Given the description of an element on the screen output the (x, y) to click on. 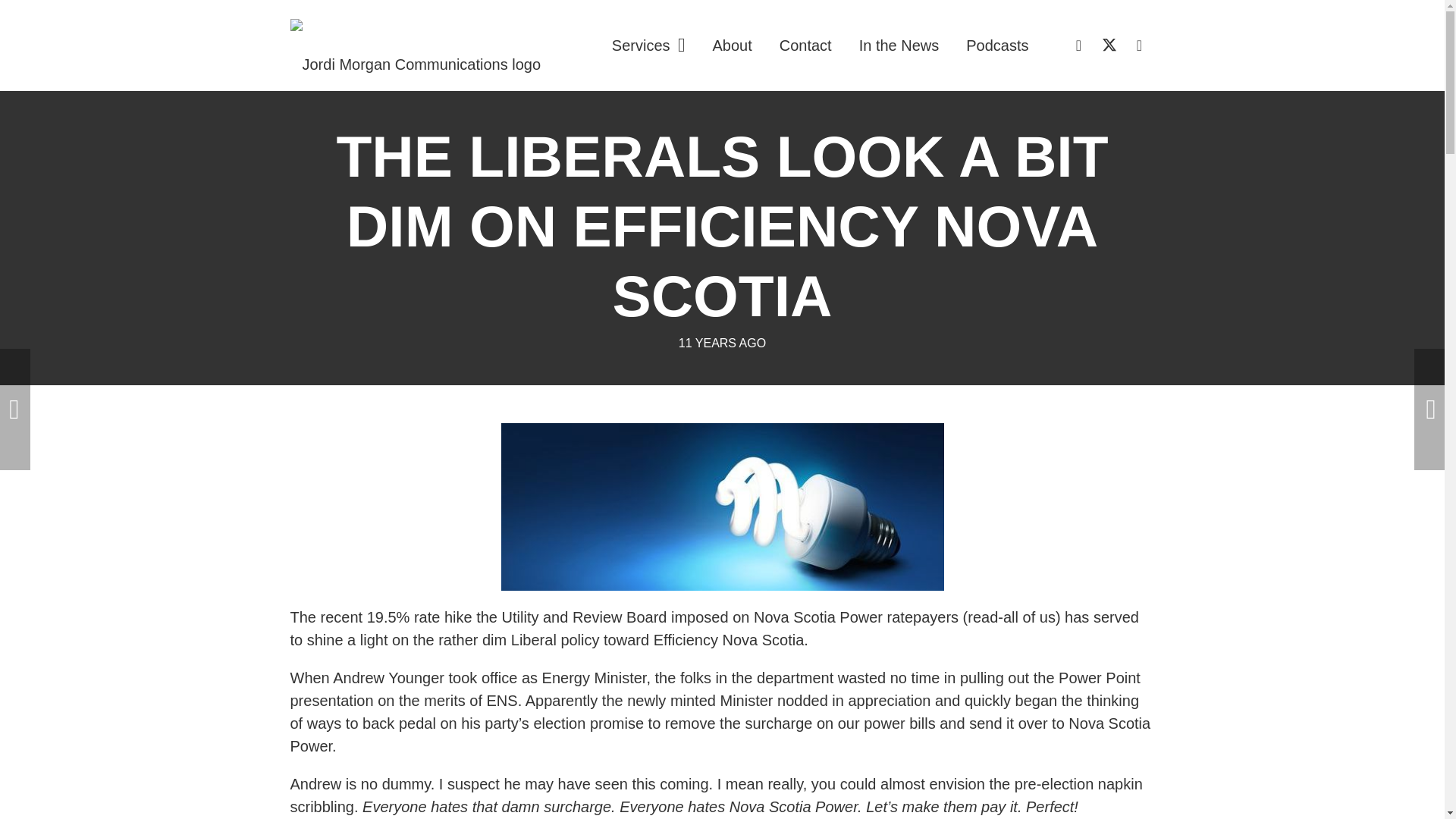
Podcasts (997, 45)
Services (648, 45)
Twitter (1109, 45)
LinkedIn (1079, 45)
Podcasts (997, 45)
In the News (899, 45)
Services (648, 45)
In the News (899, 45)
Facebook (1139, 45)
